Given the description of an element on the screen output the (x, y) to click on. 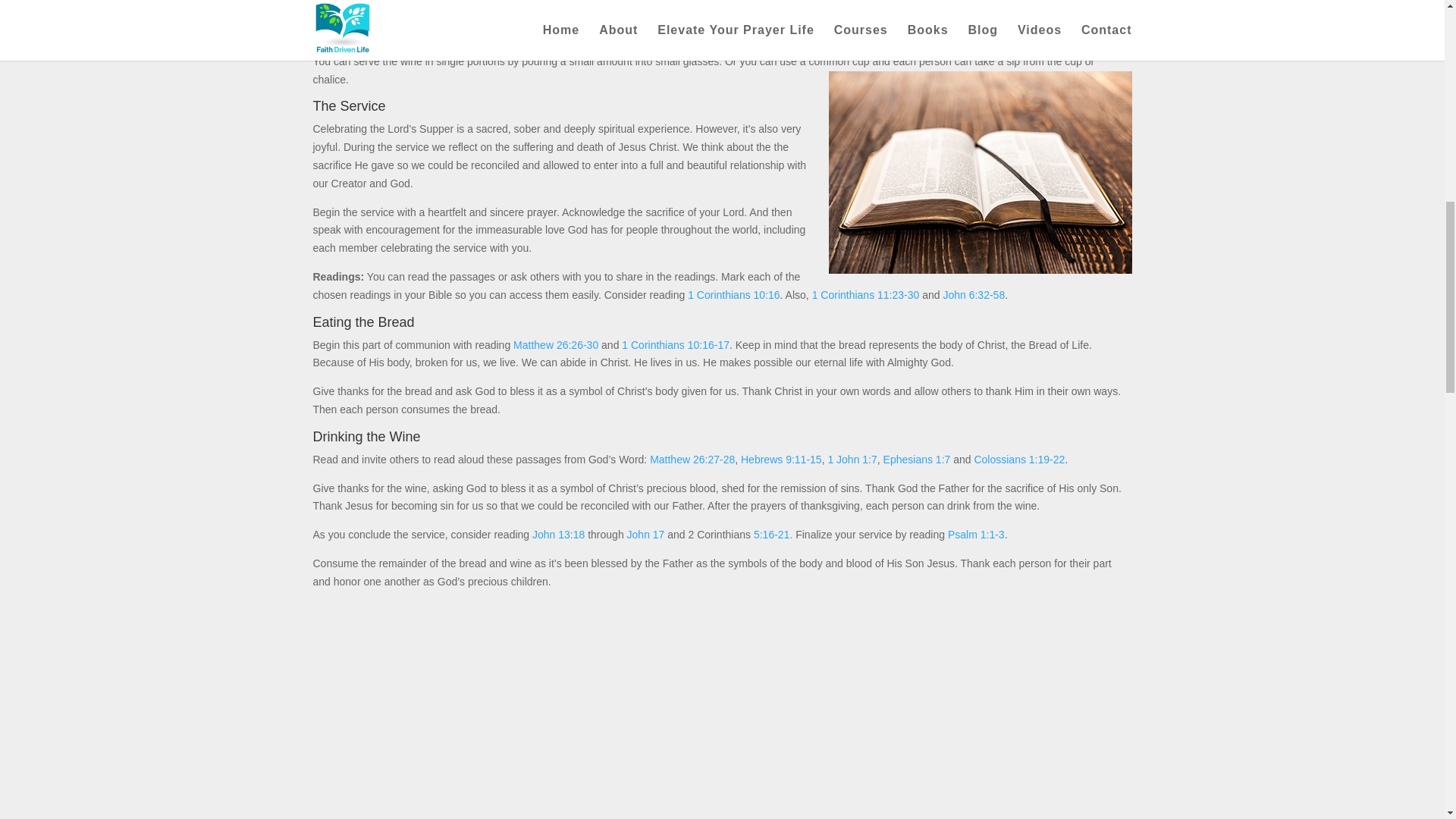
John 17 (646, 534)
1 Corinthians 10:16-17 (675, 345)
John 6:32-58 (973, 295)
1 John 1:7 (851, 459)
Colossians 1:19-22 (1019, 459)
1 Corinthians 11:23-30 (866, 295)
1 Corinthians 10:16 (732, 295)
Hebrews 9:11-15 (781, 459)
5:16-21. (773, 534)
Matthew 26:27-28 (692, 459)
Matthew 26:26-30 (555, 345)
John 13:18 (558, 534)
Ephesians 1:7 (916, 459)
Psalm 1:1-3 (975, 534)
